Given the description of an element on the screen output the (x, y) to click on. 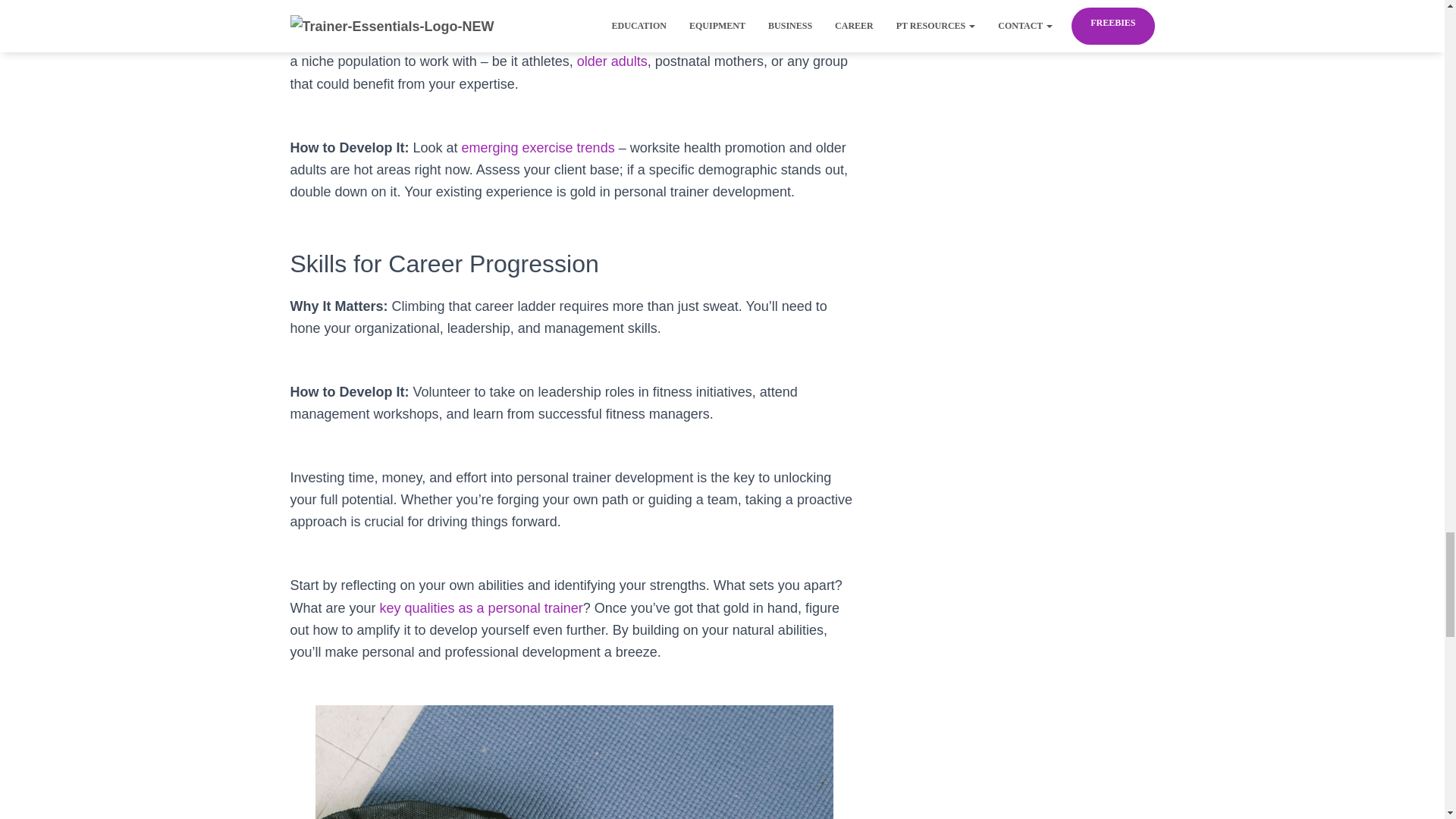
older adults (611, 61)
key qualities as a personal trainer (481, 607)
emerging exercise trends (537, 147)
